Given the description of an element on the screen output the (x, y) to click on. 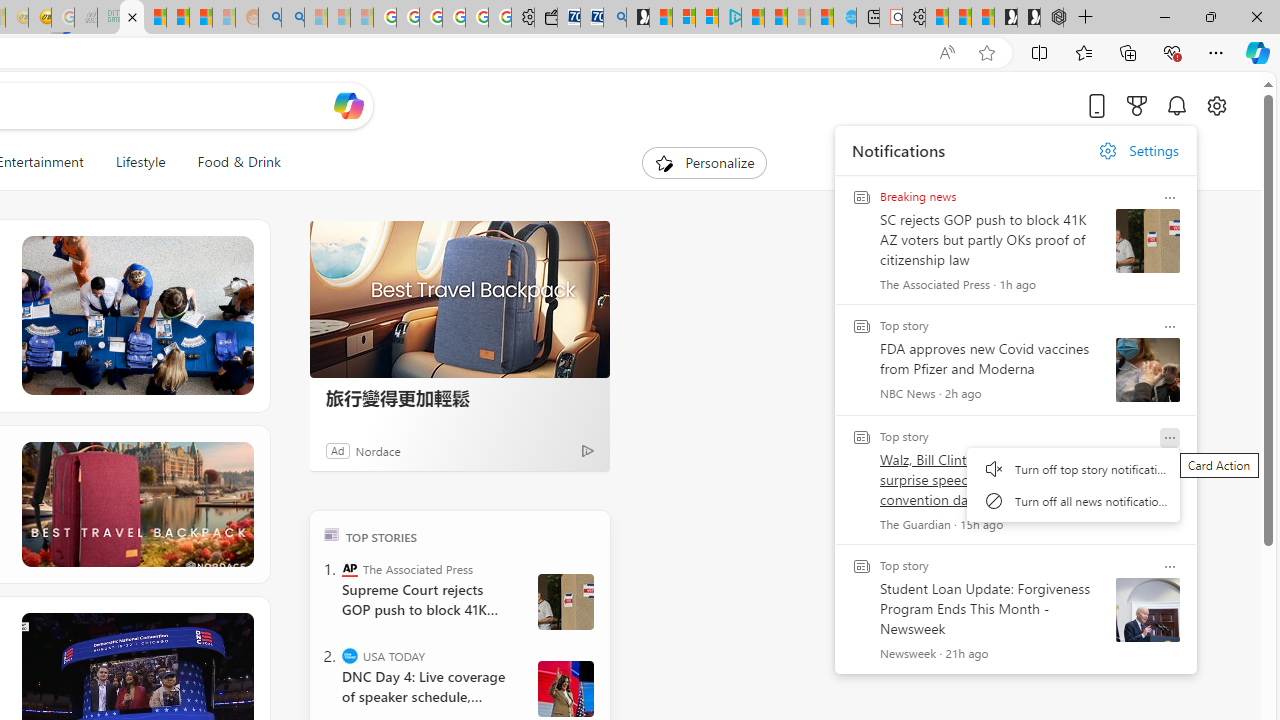
Turn off all news notifications (1073, 500)
Turn off top story notifications (1073, 468)
